Given the description of an element on the screen output the (x, y) to click on. 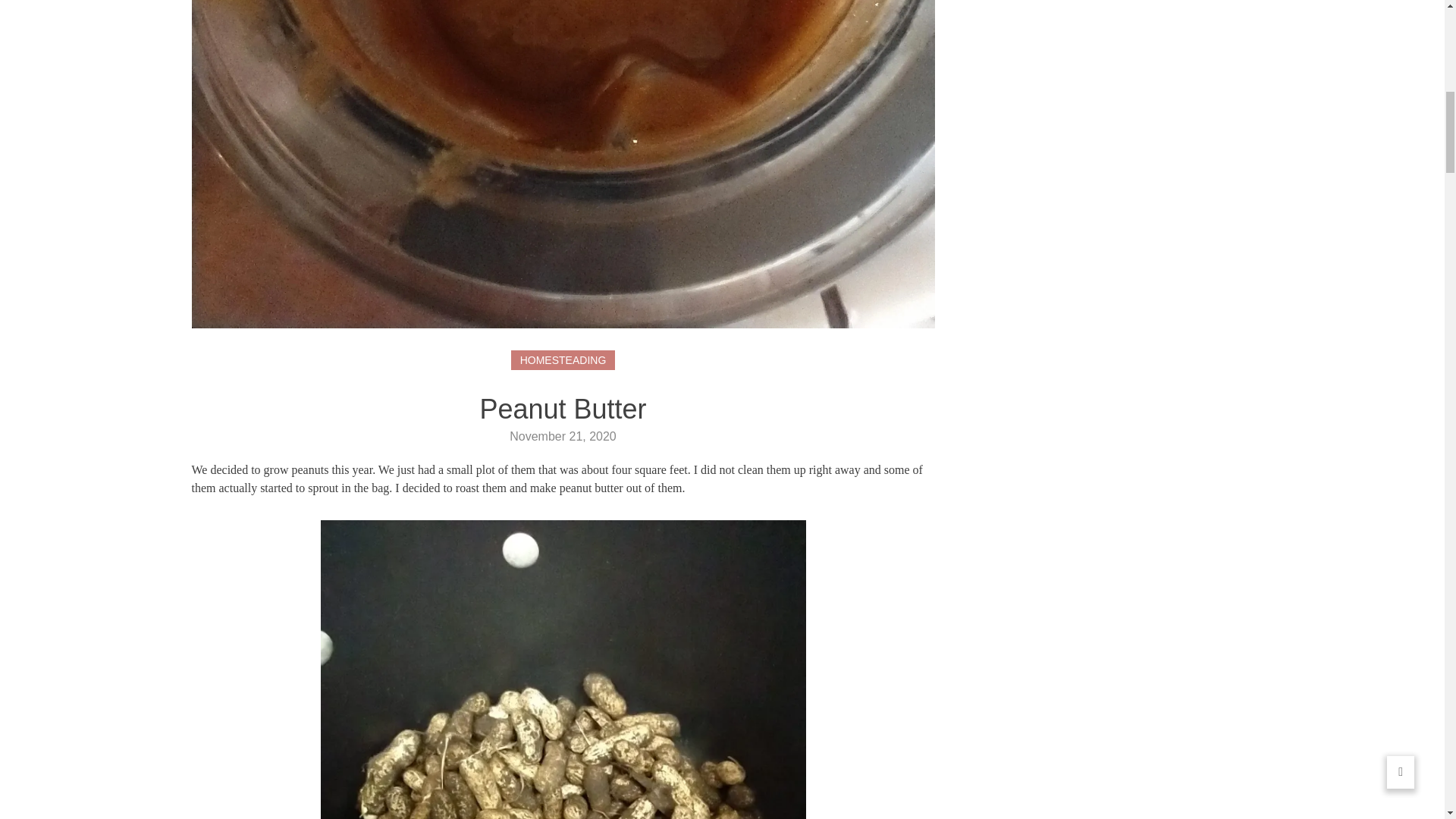
HOMESTEADING (563, 360)
November 21, 2020 (562, 436)
